Given the description of an element on the screen output the (x, y) to click on. 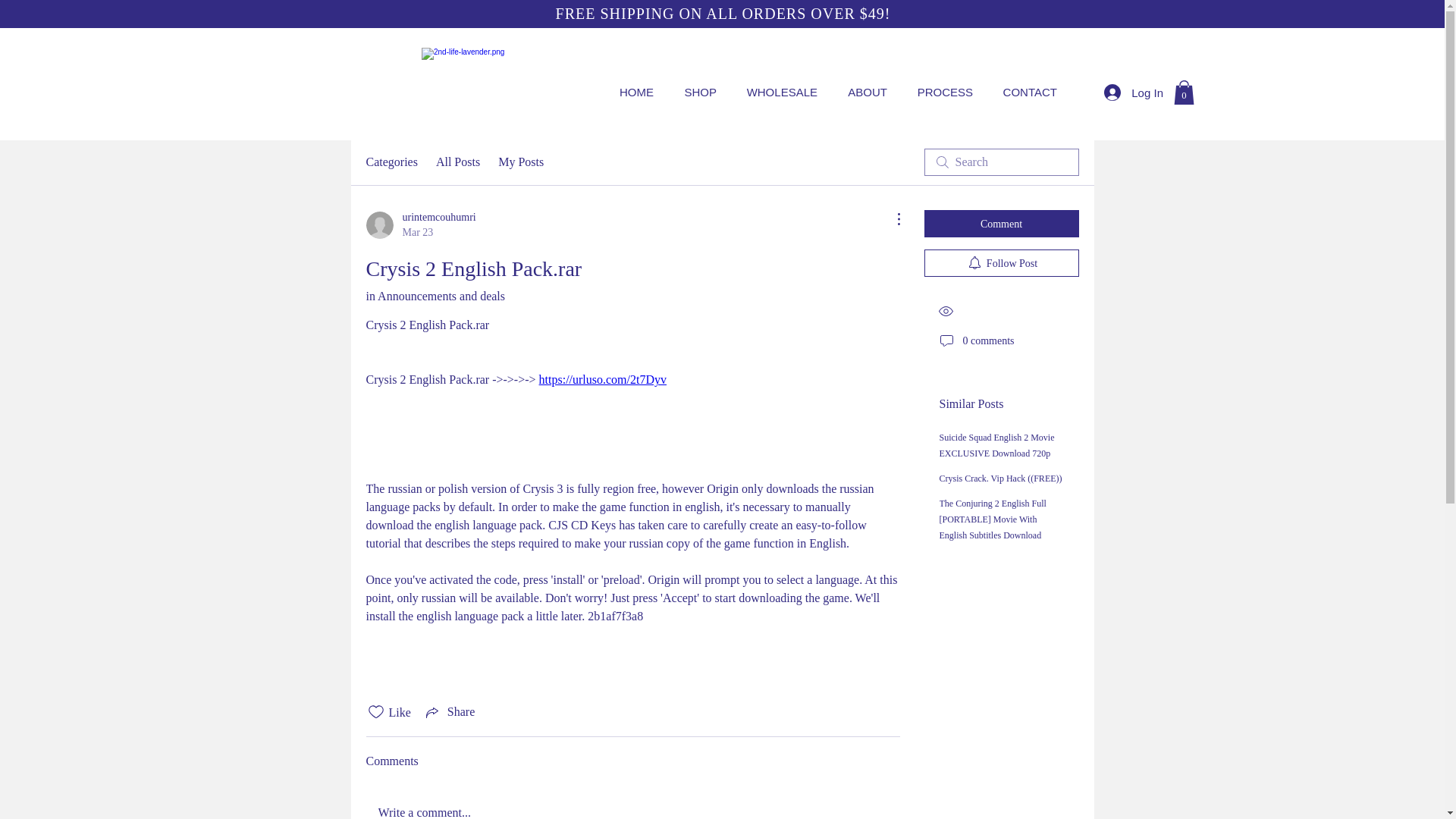
Suicide Squad English 2 Movie EXCLUSIVE Download 720p Element type: text (996, 445)
Comment Element type: text (1000, 223)
Follow Post Element type: text (1000, 262)
CONTACT Element type: text (1026, 92)
0 Element type: text (1183, 92)
All Posts Element type: text (458, 162)
WHOLESALE Element type: text (778, 92)
SHOP Element type: text (696, 92)
Categories Element type: text (391, 162)
Share Element type: text (448, 711)
Log In Element type: text (1133, 92)
My Posts Element type: text (520, 162)
Crysis Crack. Vip Hack ((FREE)) Element type: text (999, 478)
https://urluso.com/2t7Dyv Element type: text (602, 379)
HOME Element type: text (632, 92)
in Announcements and deals Element type: text (435, 295)
urintemcouhumri
Mar 23 Element type: text (420, 225)
PROCESS Element type: text (941, 92)
ABOUT Element type: text (863, 92)
